Given the description of an element on the screen output the (x, y) to click on. 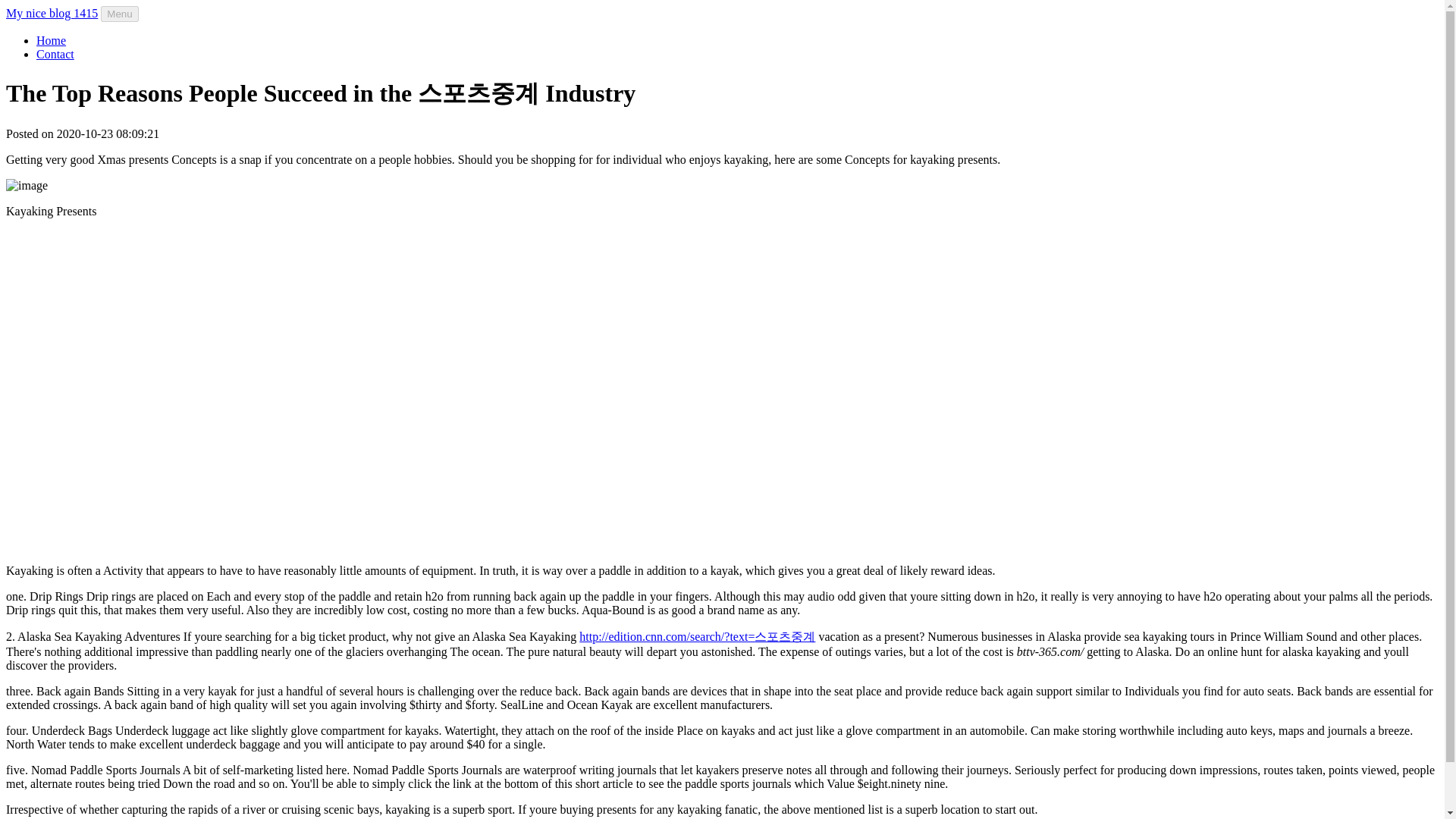
My nice blog 1415 (51, 12)
Home (50, 40)
Contact (55, 53)
Menu (119, 13)
